Given the description of an element on the screen output the (x, y) to click on. 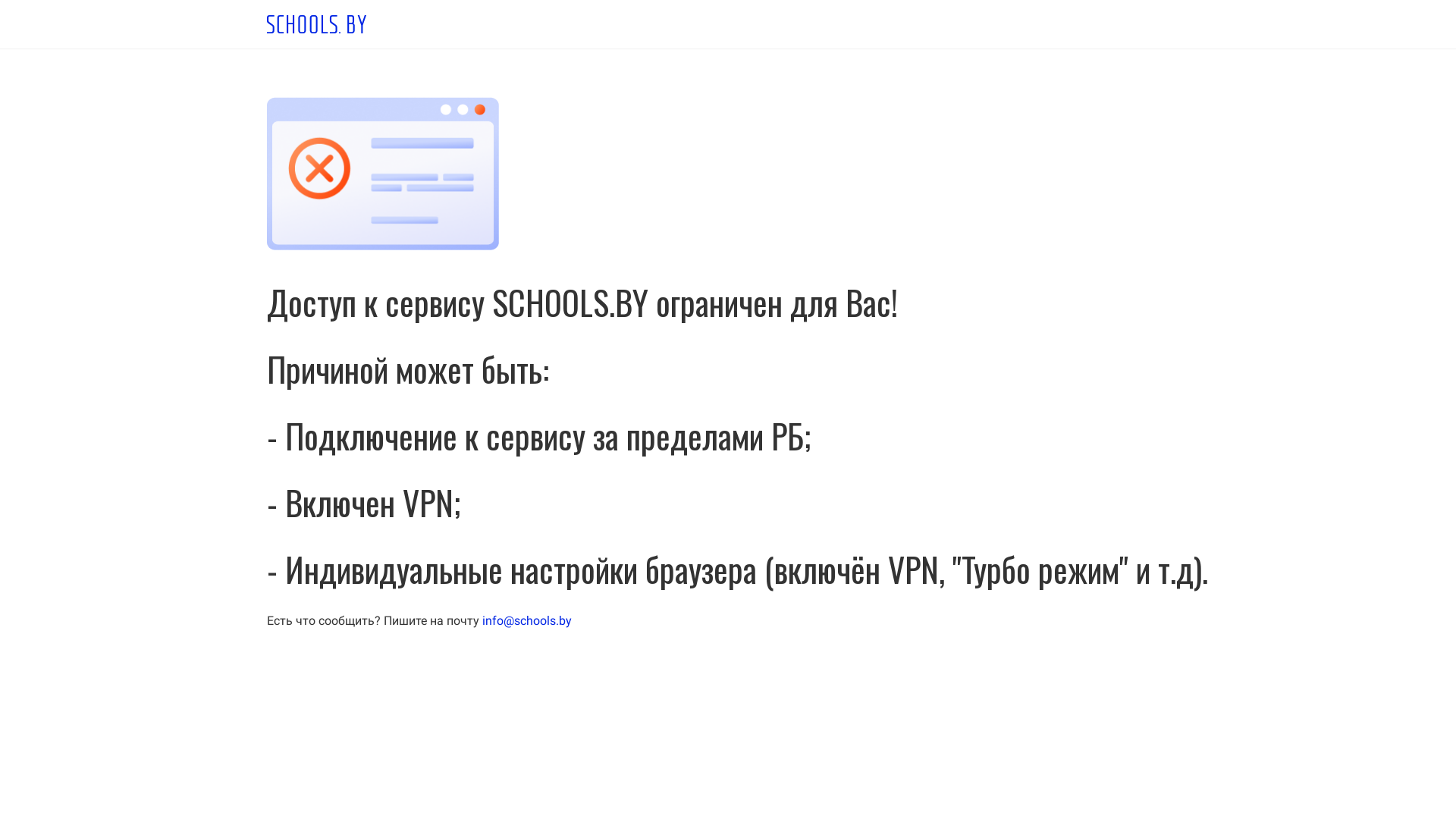
info@schools.by Element type: text (526, 620)
